Given the description of an element on the screen output the (x, y) to click on. 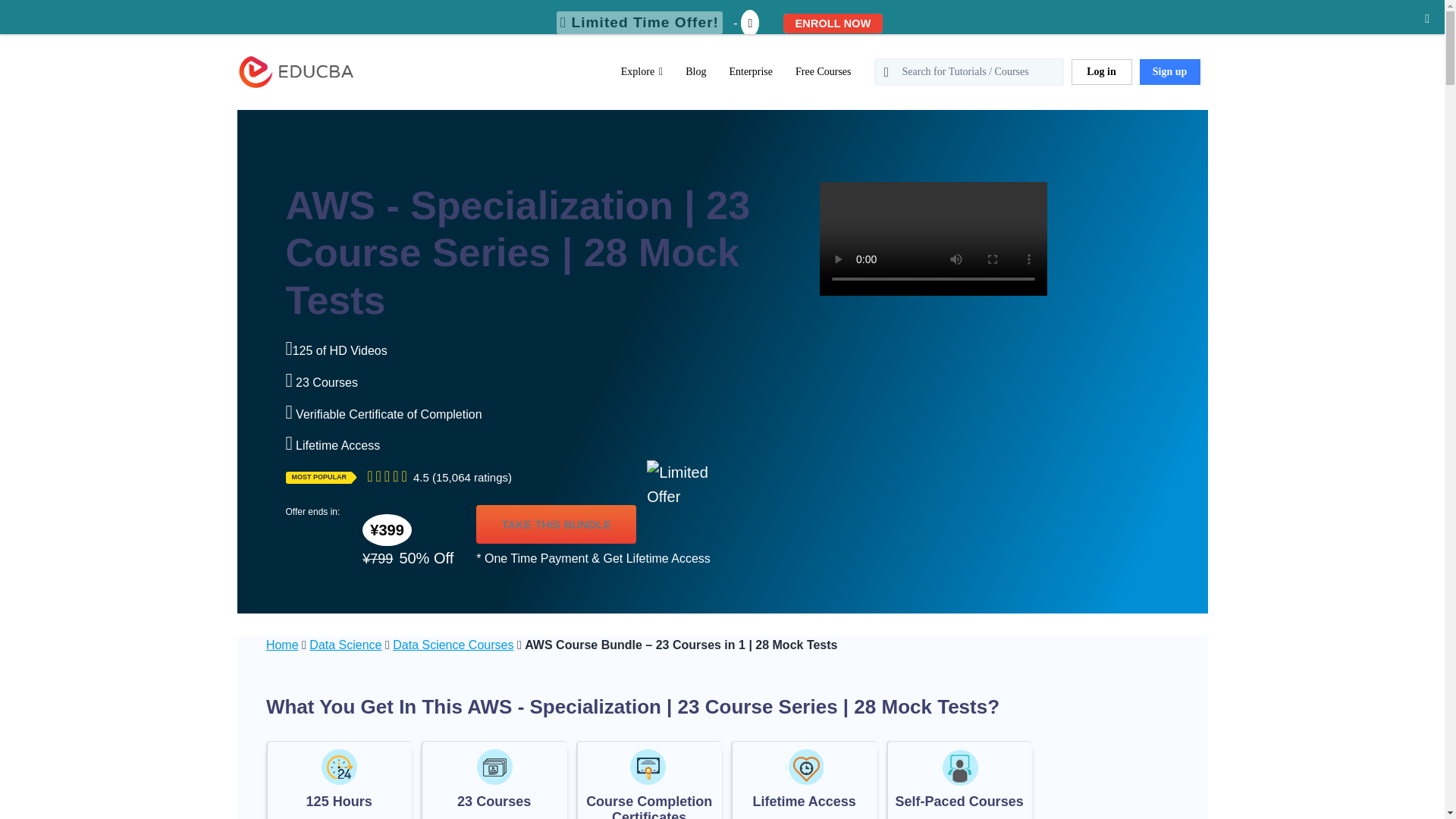
EDUCBA (263, 96)
Free Courses (823, 72)
Enterprise (750, 72)
Log in (1100, 71)
Search (43, 19)
Data Science Courses (453, 644)
Data Science (344, 644)
Home (282, 644)
Sign up (1168, 71)
TAKE THIS BUNDLE (556, 524)
Explore (640, 72)
